Given the description of an element on the screen output the (x, y) to click on. 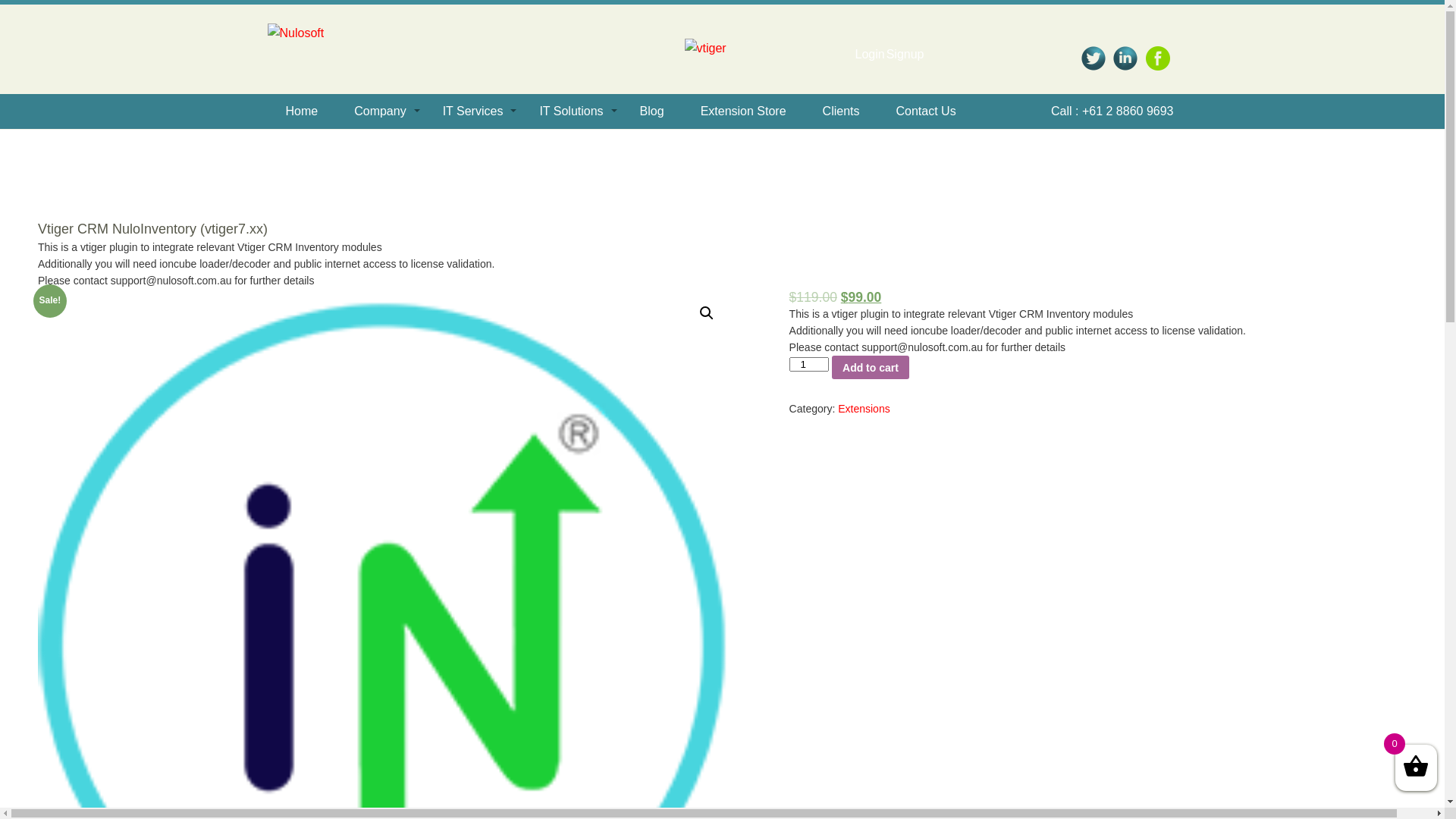
IT Services Element type: text (472, 110)
IT Solutions Element type: text (570, 110)
Blog Element type: text (651, 110)
Qty Element type: hover (808, 364)
Signup Element type: text (905, 53)
Home Element type: text (300, 110)
vtiger Element type: hover (704, 48)
Company Element type: text (379, 110)
Extensions Element type: text (863, 408)
Login Element type: text (869, 53)
Extension Store Element type: text (743, 110)
Nulosoft Element type: hover (294, 33)
Add to cart Element type: text (870, 367)
Contact Us Element type: text (926, 110)
Clients Element type: text (841, 110)
